Given the description of an element on the screen output the (x, y) to click on. 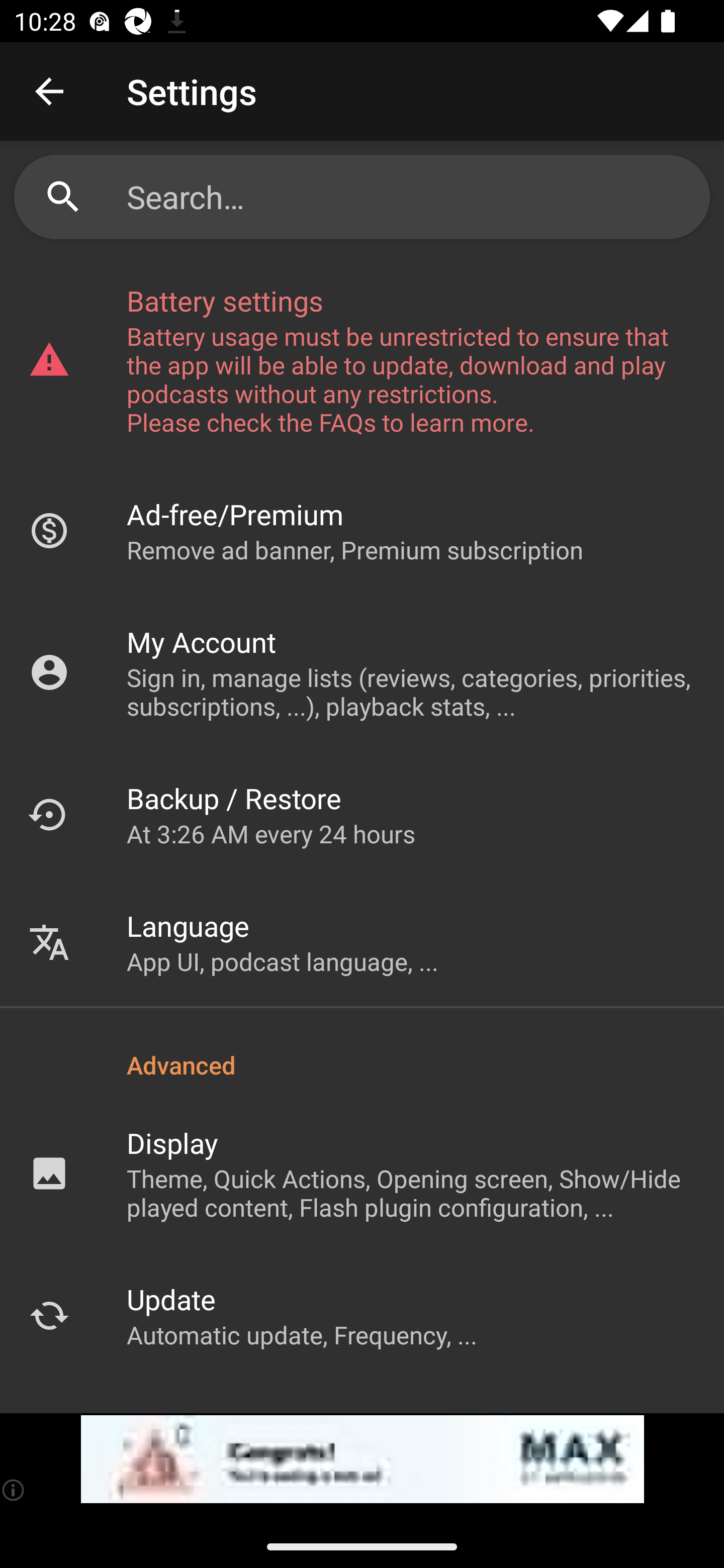
Navigate up (49, 91)
Search… (361, 197)
Search… (410, 196)
Backup / Restore At 3:26 AM every 24 hours (362, 814)
Language App UI, podcast language, ... (362, 942)
Update Automatic update, Frequency, ... (362, 1315)
app-monetization (362, 1459)
(i) (14, 1489)
